Given the description of an element on the screen output the (x, y) to click on. 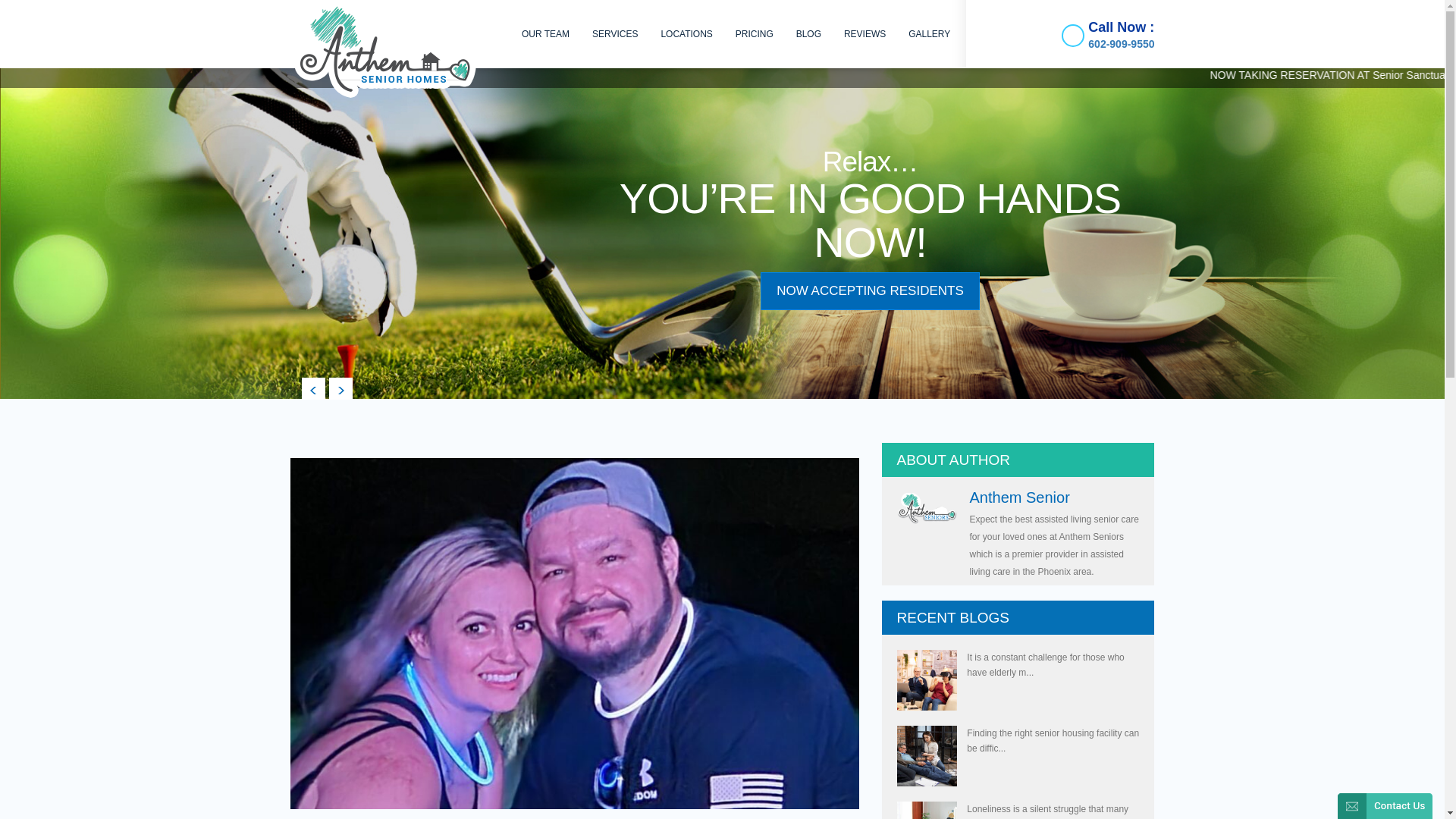
REVIEWS (864, 33)
SERVICES (614, 33)
602-909-9550 (1120, 43)
NOW ACCEPTING RESIDENTS (869, 290)
LOCATIONS (686, 33)
Anthem Senior (1018, 497)
GALLERY (928, 33)
OUR TEAM (545, 33)
